Given the description of an element on the screen output the (x, y) to click on. 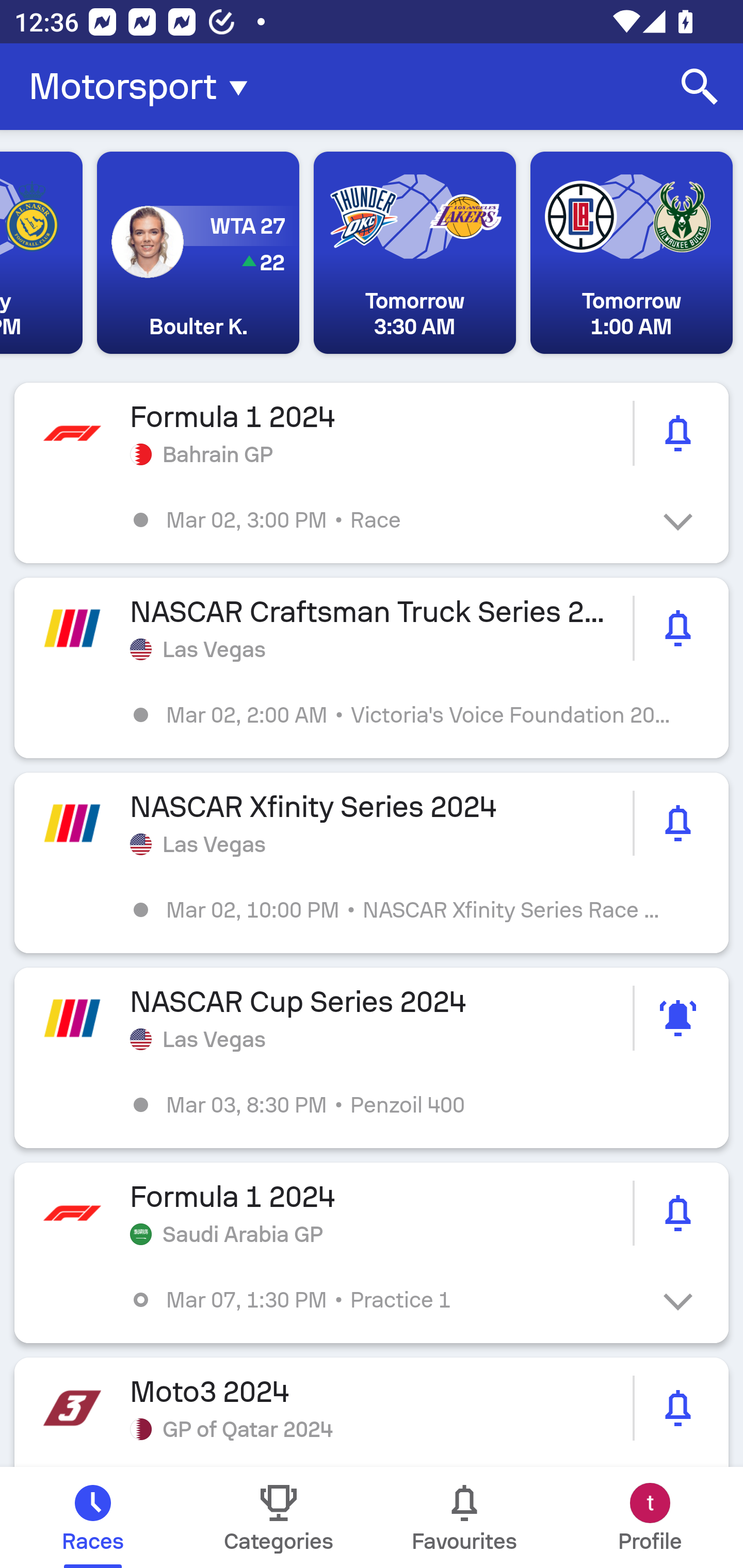
Motorsport (144, 86)
Search (699, 86)
WTA 27 22 Boulter K. (198, 253)
Tomorrow
3:30 AM (414, 253)
Tomorrow
1:00 AM (631, 253)
Mar 02, 3:00 PM • Race (385, 519)
Mar 07, 1:30 PM • Practice 1 (385, 1299)
Moto3 2024 GP of Qatar 2024 picture (371, 1412)
Categories (278, 1517)
Favourites (464, 1517)
Profile (650, 1517)
